Given the description of an element on the screen output the (x, y) to click on. 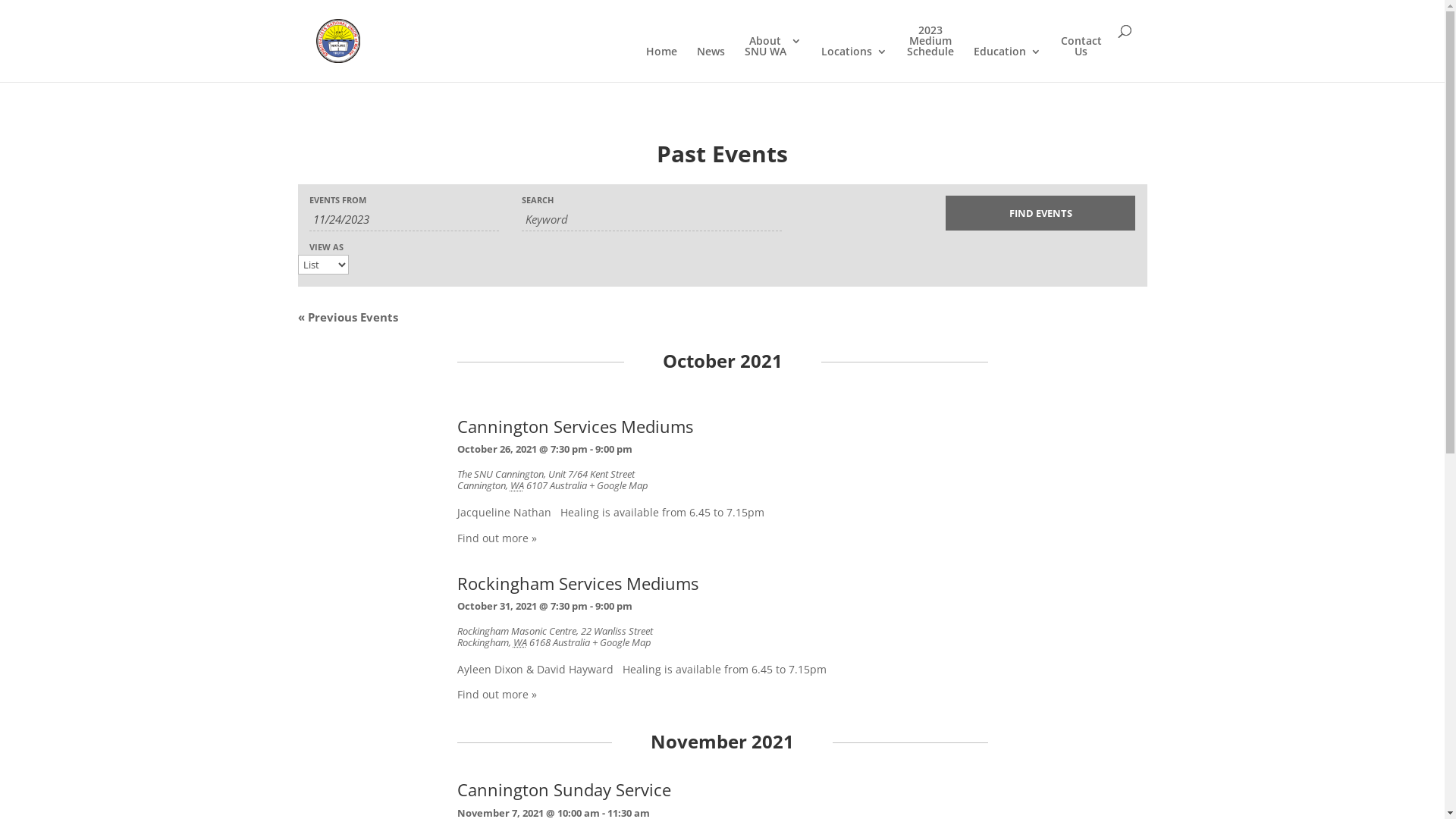
2023
Medium
Schedule Element type: text (929, 53)
Locations Element type: text (853, 63)
Education Element type: text (1007, 63)
Rockingham Services Mediums Element type: text (576, 583)
Find Events Element type: text (1040, 212)
+ Google Map Element type: text (620, 642)
Home Element type: text (661, 63)
Cannington Services Mediums Element type: text (574, 426)
About
SNU WA Element type: text (772, 58)
News Element type: text (710, 63)
Contact
Us Element type: text (1080, 58)
Cannington Sunday Service Element type: text (563, 789)
+ Google Map Element type: text (617, 485)
